Given the description of an element on the screen output the (x, y) to click on. 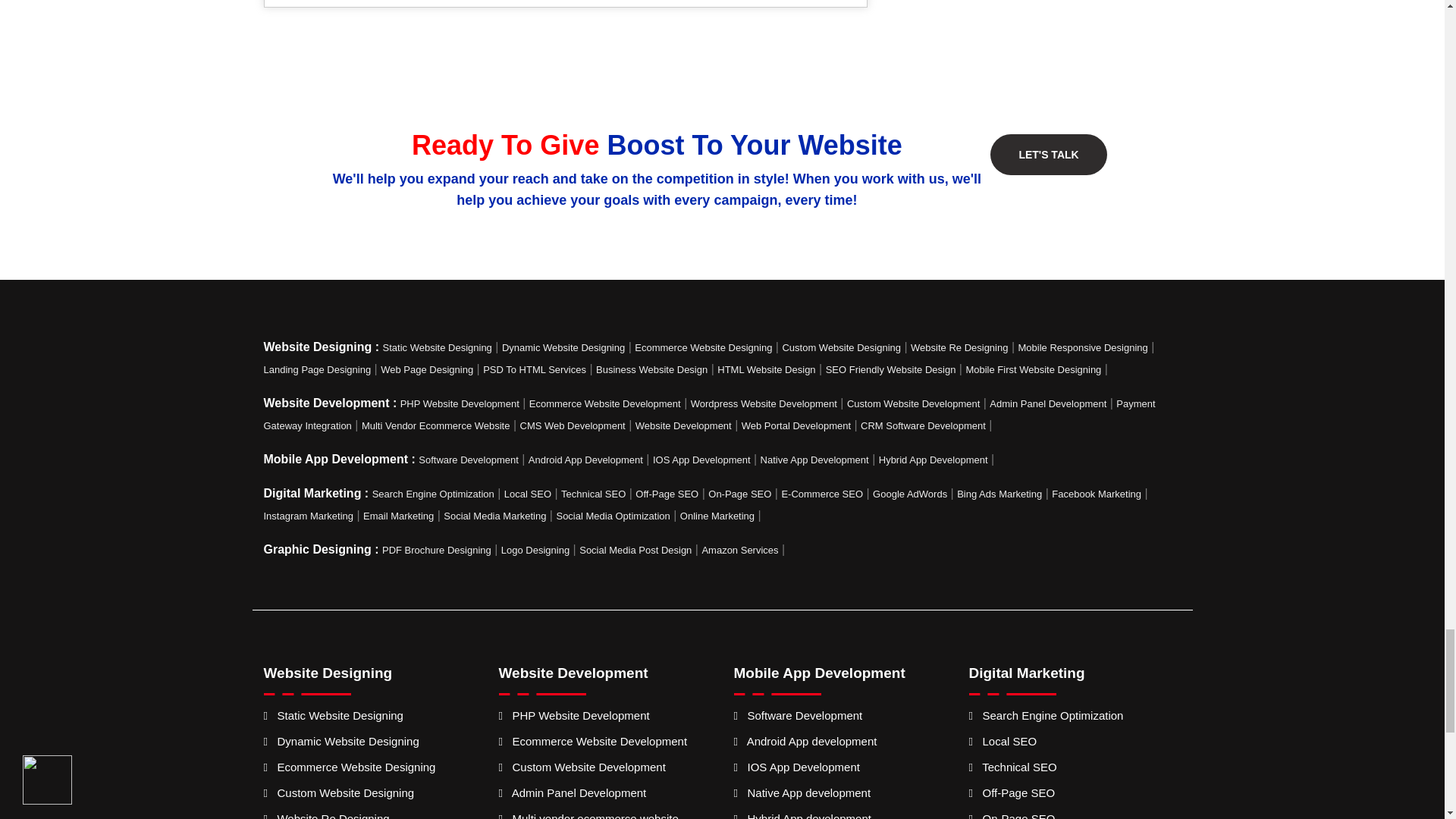
Web page Designing (426, 369)
Static Website Designing (437, 347)
Ecommerce Website Development (605, 403)
Custom Website Development (913, 403)
Business Website Design (651, 369)
PSD to HTML Services (534, 369)
HTML Website Design (766, 369)
Admin Panel Development (1048, 403)
Multi vendor ecommerce website (436, 425)
Landing page designing (317, 369)
Website Re Designing (959, 347)
Dynamic Website Designing (563, 347)
Mobile Responsive Designing (1082, 347)
Wordpress Website Development (763, 403)
SEO Friendly Website Design (890, 369)
